Given the description of an element on the screen output the (x, y) to click on. 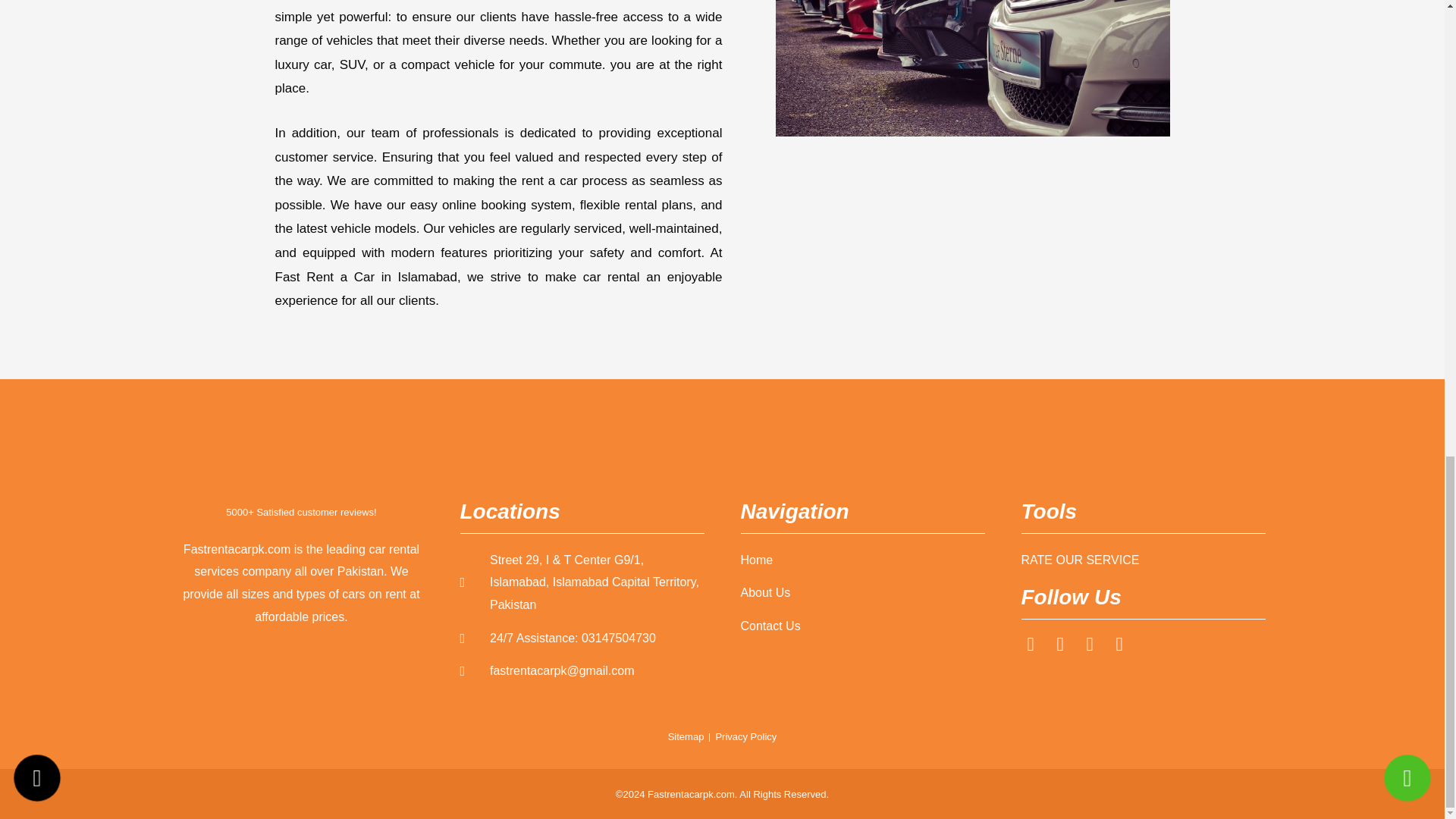
Home (861, 559)
About Us (861, 592)
Sitemap (686, 737)
Contact Us (861, 626)
